Given the description of an element on the screen output the (x, y) to click on. 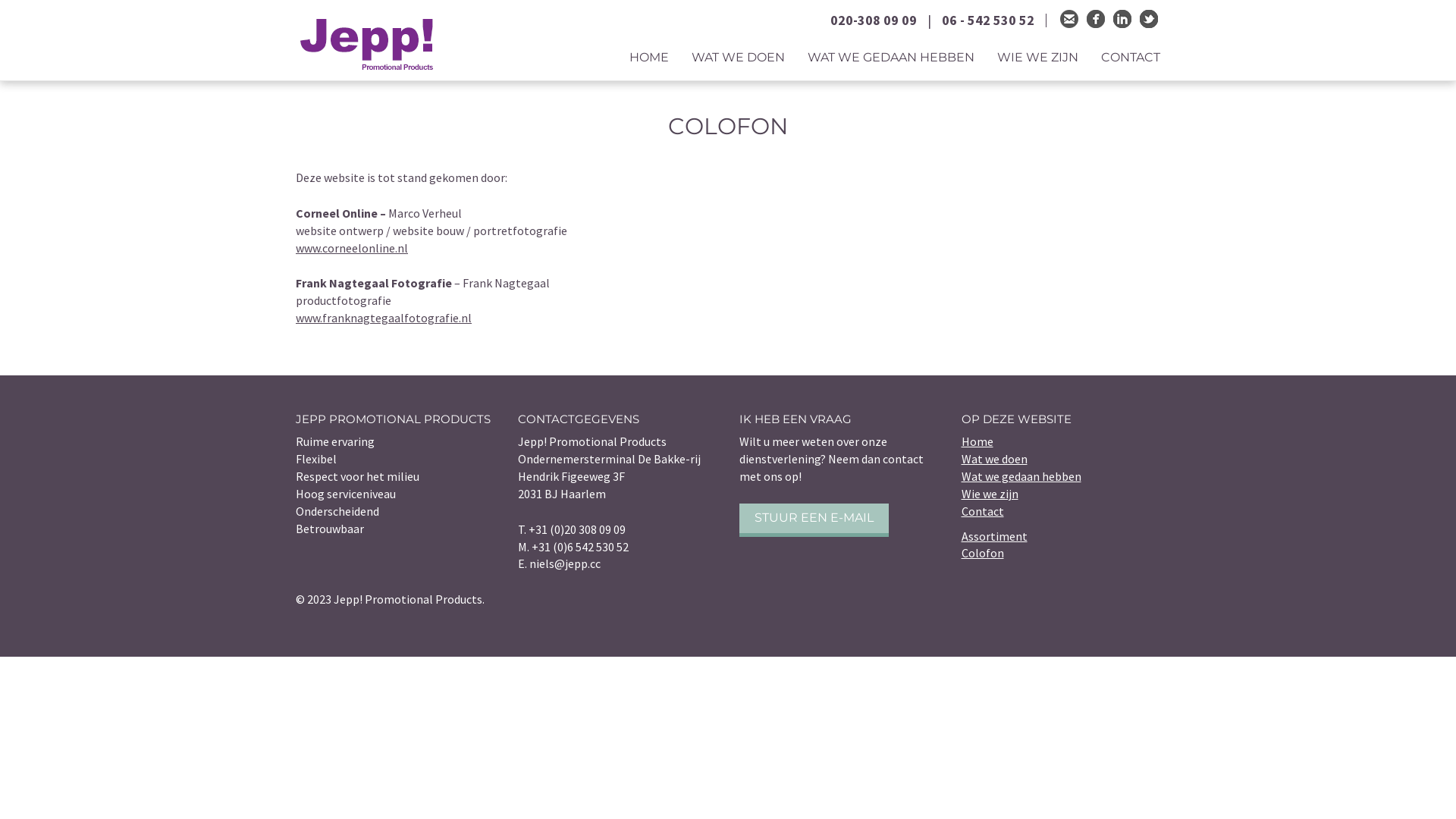
Wat we doen Element type: text (994, 458)
Colofon Element type: text (982, 552)
CONTACT Element type: text (1130, 53)
Stuur een e-mail Element type: hover (1068, 18)
Home Element type: text (977, 440)
Wat we gedaan hebben Element type: text (1021, 475)
Contact Element type: text (982, 510)
Maak contact op LinkedIn Element type: hover (1121, 18)
WAT WE GEDAAN HEBBEN Element type: text (890, 53)
Wie we zijn Element type: text (989, 493)
WIE WE ZIJN Element type: text (1037, 53)
www.corneelonline.nl Element type: text (351, 247)
Assortiment Element type: text (994, 535)
Volg me op Facebook Element type: hover (1095, 18)
Volg me op Twitter Element type: hover (1148, 18)
HOME Element type: text (648, 53)
www.franknagtegaalfotografie.nl Element type: text (383, 317)
STUUR EEN E-MAIL Element type: text (813, 519)
WAT WE DOEN Element type: text (737, 53)
